Given the description of an element on the screen output the (x, y) to click on. 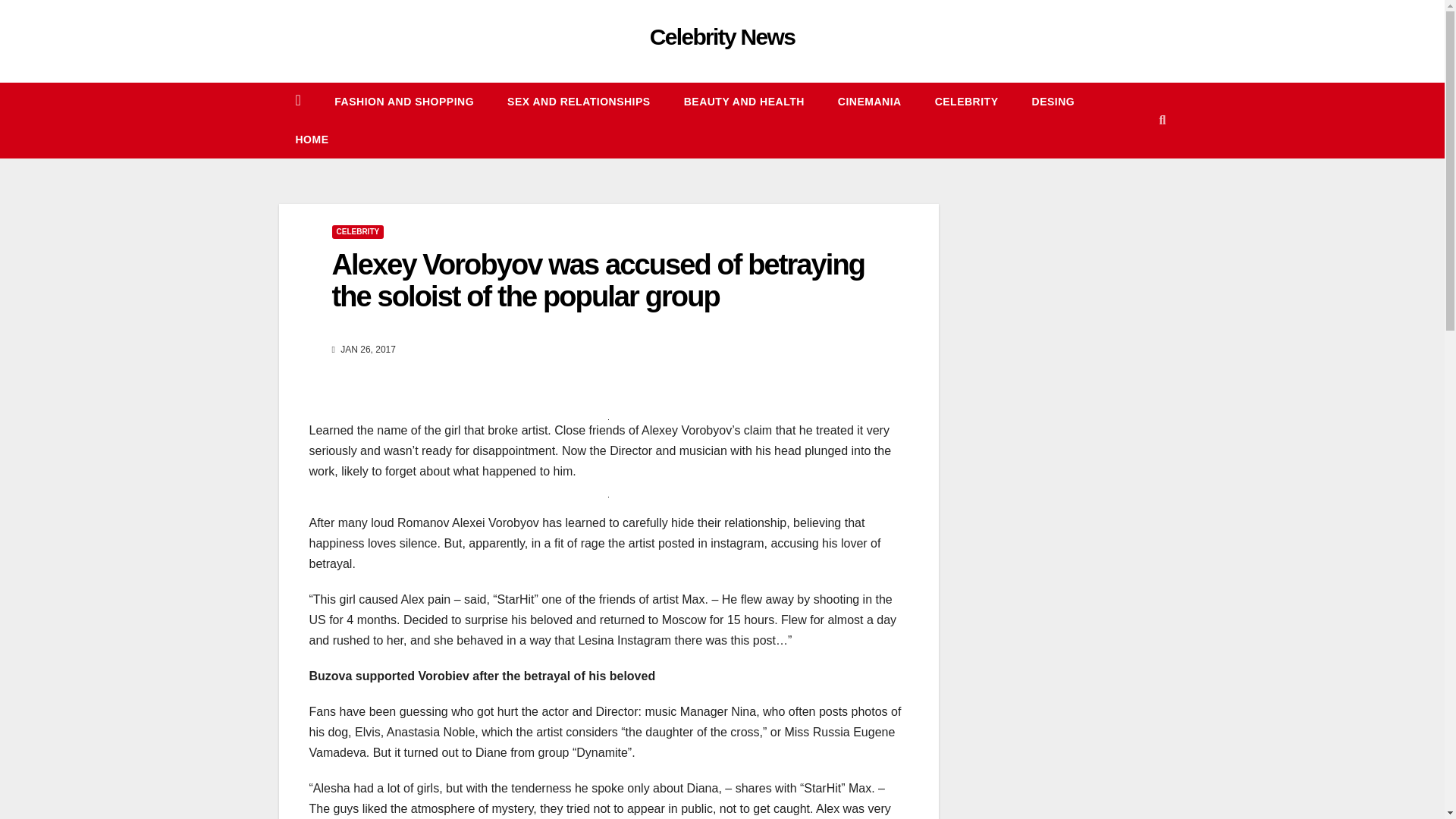
BEAUTY AND HEALTH (743, 101)
Celebrity News (721, 36)
SEX AND RELATIONSHIPS (578, 101)
DESING (1053, 101)
Home (312, 139)
FASHION AND SHOPPING (403, 101)
CINEMANIA (869, 101)
BEAUTY AND HEALTH (743, 101)
SEX AND RELATIONSHIPS (578, 101)
